Given the description of an element on the screen output the (x, y) to click on. 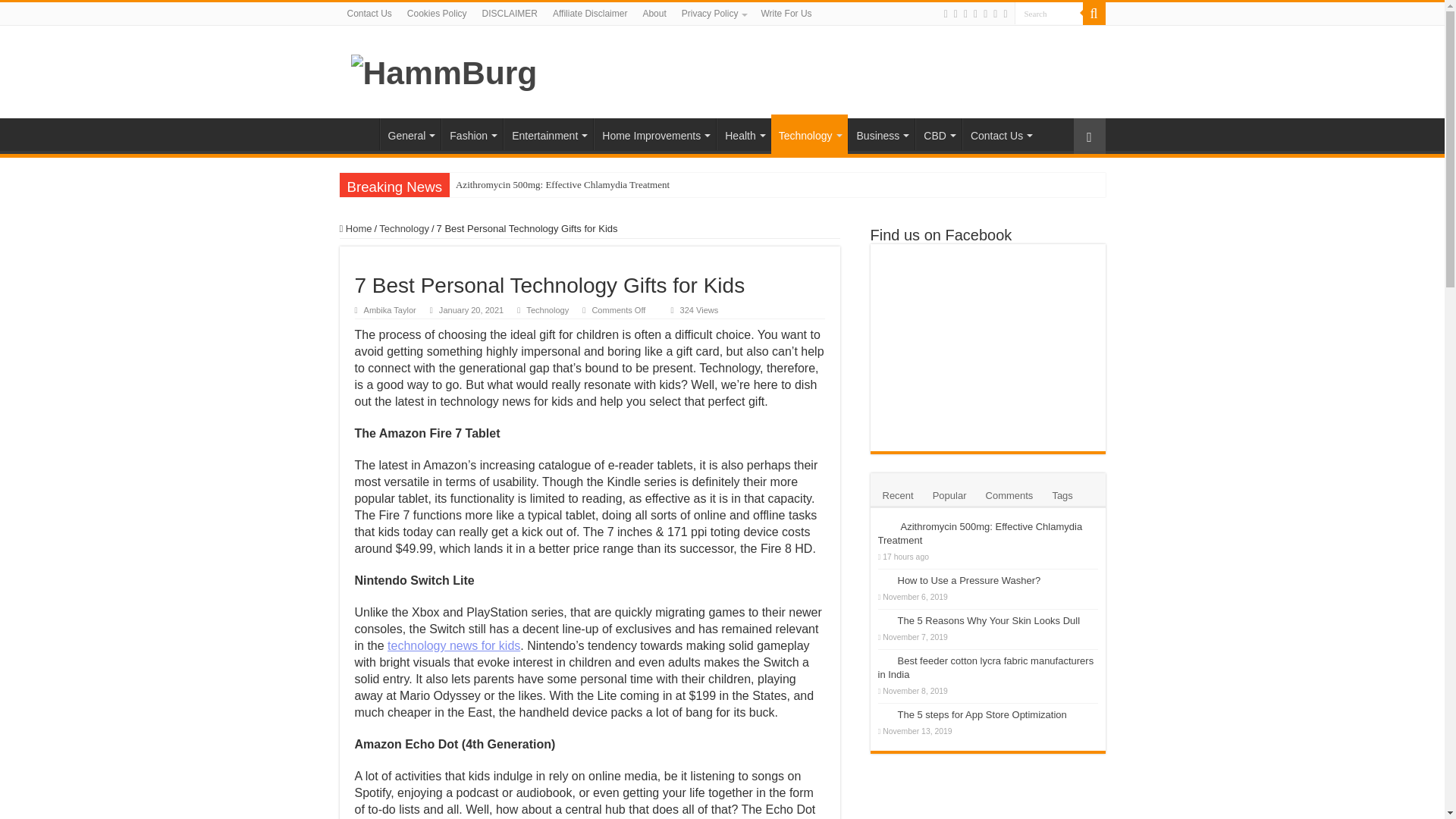
Search (1048, 13)
Affiliate Disclaimer (589, 13)
Contact Us (368, 13)
Search (1048, 13)
Cookies Policy (436, 13)
Privacy Policy (714, 13)
General (409, 133)
Home (358, 133)
Search (1048, 13)
Search (1094, 13)
Write For Us (785, 13)
About (653, 13)
DISCLAIMER (509, 13)
